Given the description of an element on the screen output the (x, y) to click on. 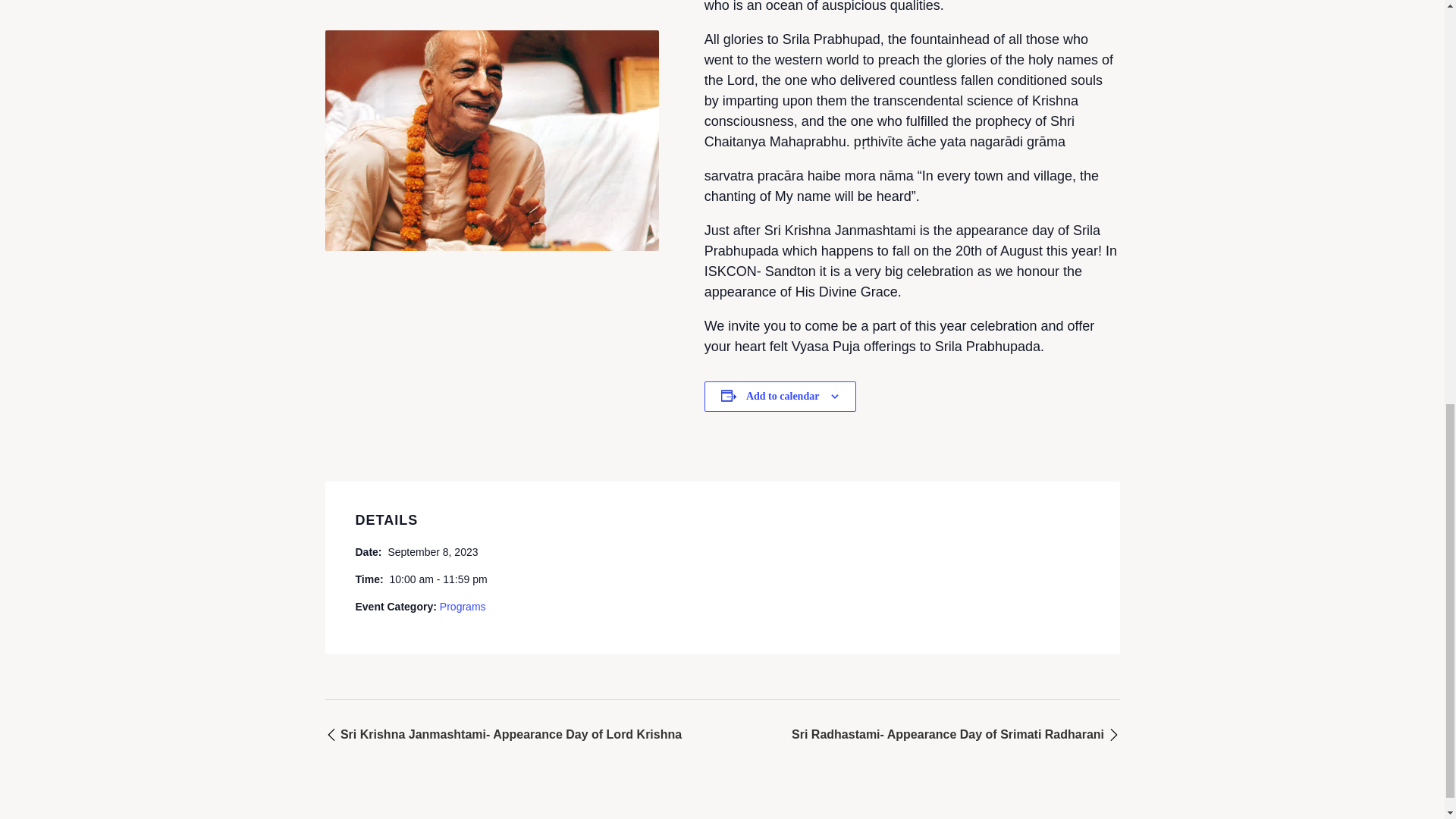
2023-09-08 (437, 578)
2023-09-08 (432, 551)
